Given the description of an element on the screen output the (x, y) to click on. 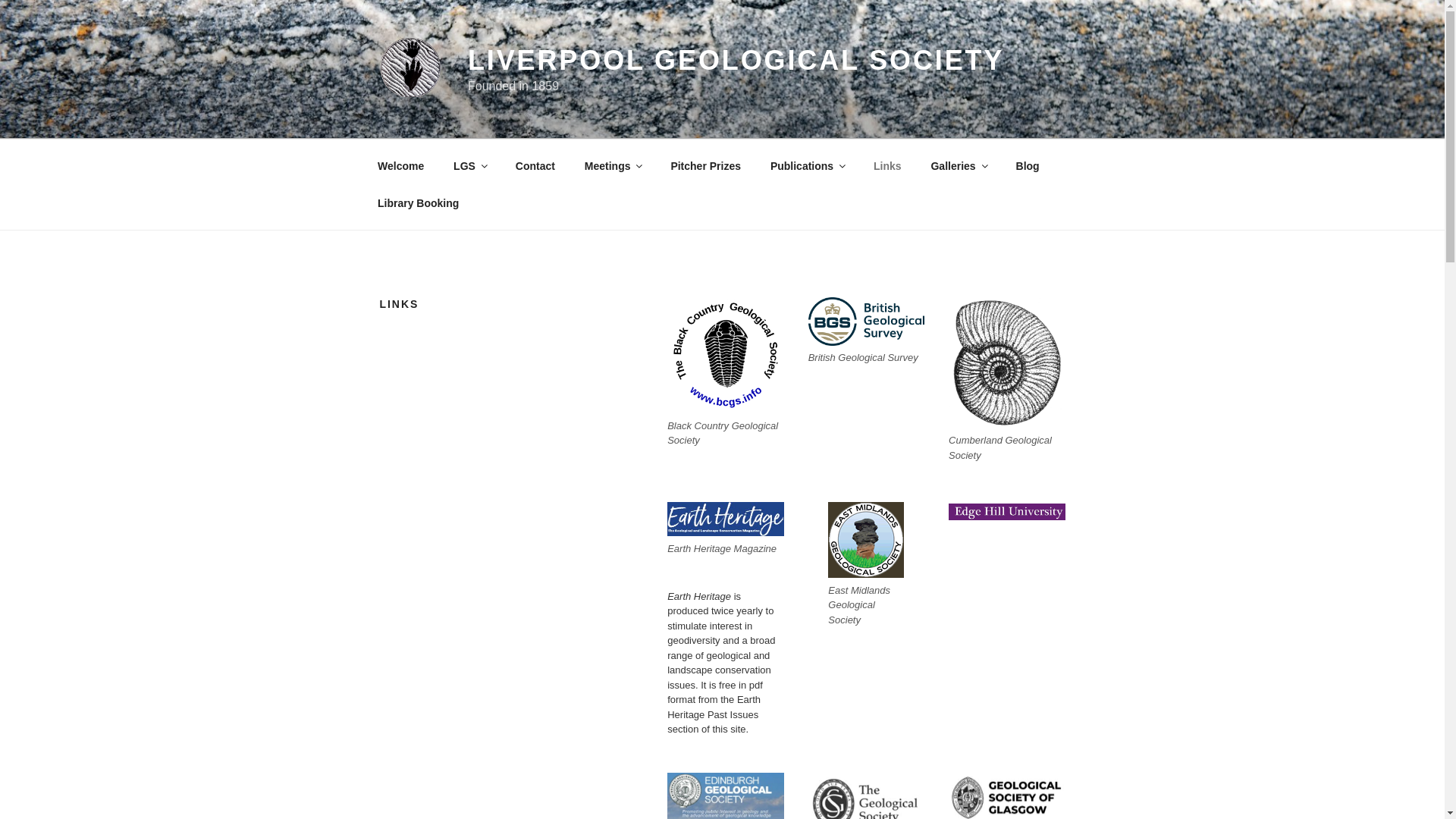
Pitcher Prizes (706, 165)
Contact (534, 165)
Publications (807, 165)
Meetings (611, 165)
LGS (470, 165)
Welcome (400, 165)
LIVERPOOL GEOLOGICAL SOCIETY (735, 60)
